Given the description of an element on the screen output the (x, y) to click on. 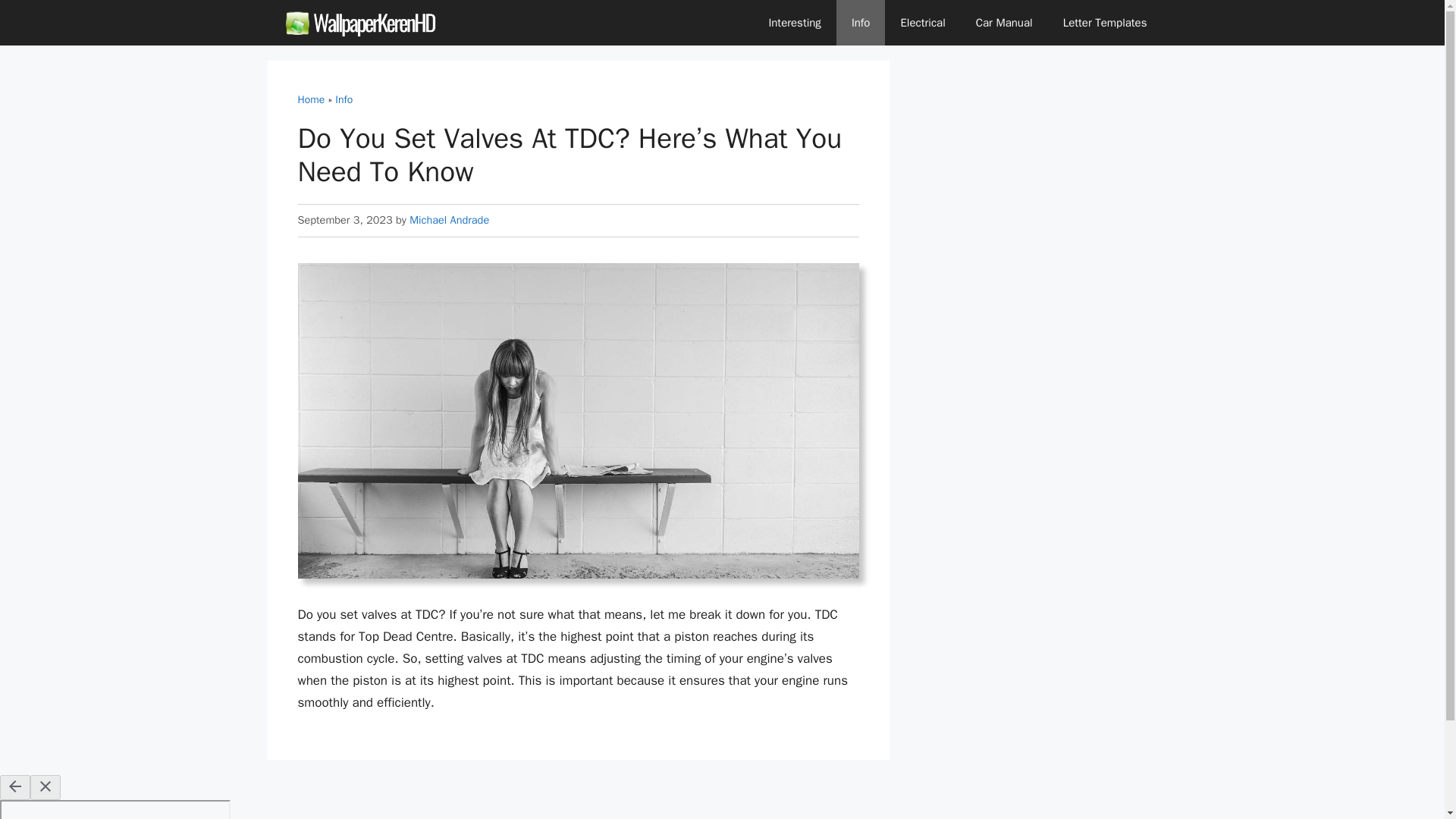
Interesting (793, 22)
Info (860, 22)
Letter Templates (1104, 22)
Home (310, 99)
View all posts by Michael Andrade (449, 219)
Info (343, 99)
Michael Andrade (449, 219)
Wallpaperkerenhd.com (362, 22)
Electrical (922, 22)
